Given the description of an element on the screen output the (x, y) to click on. 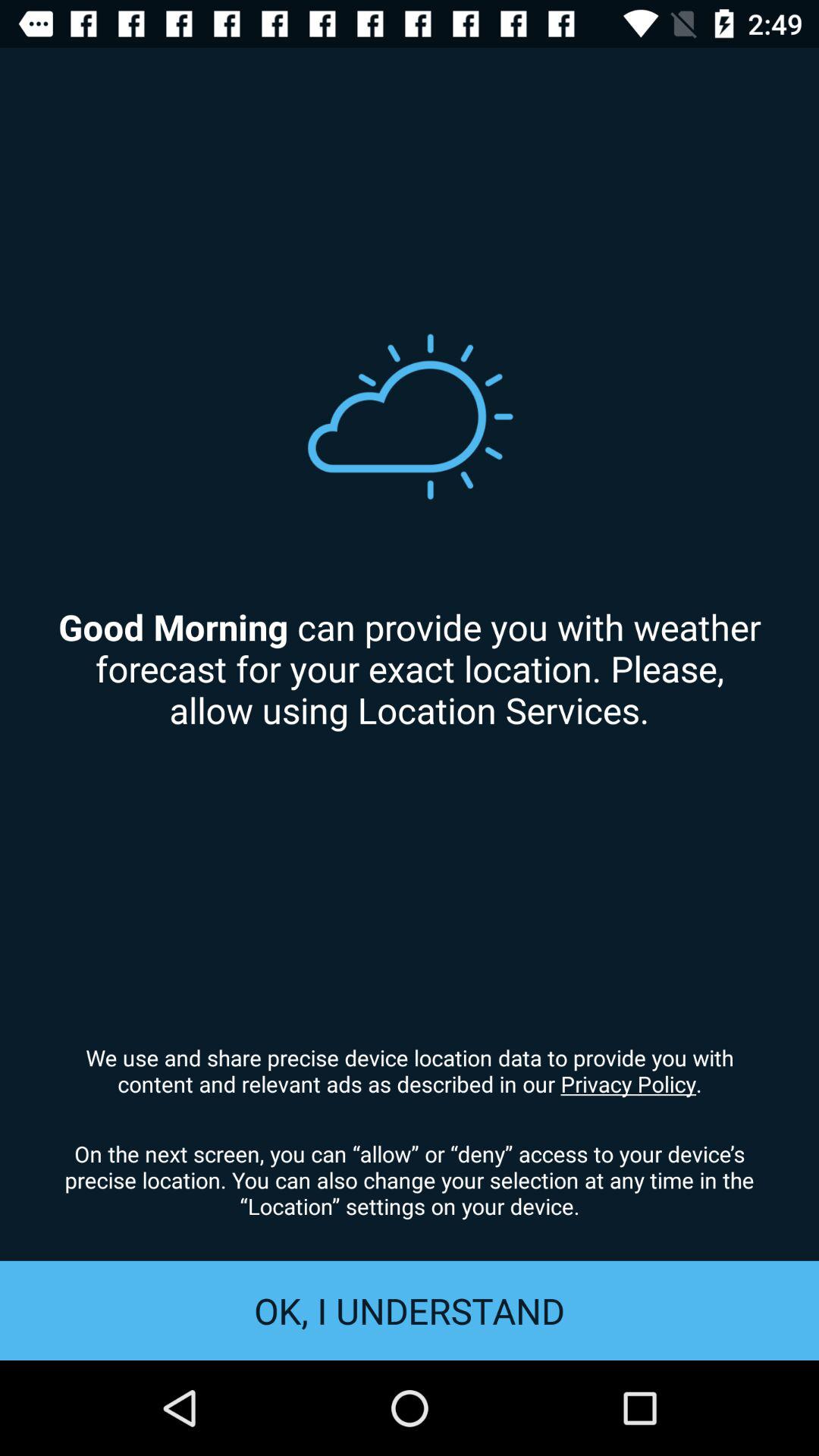
tap item below on the next item (409, 1310)
